Given the description of an element on the screen output the (x, y) to click on. 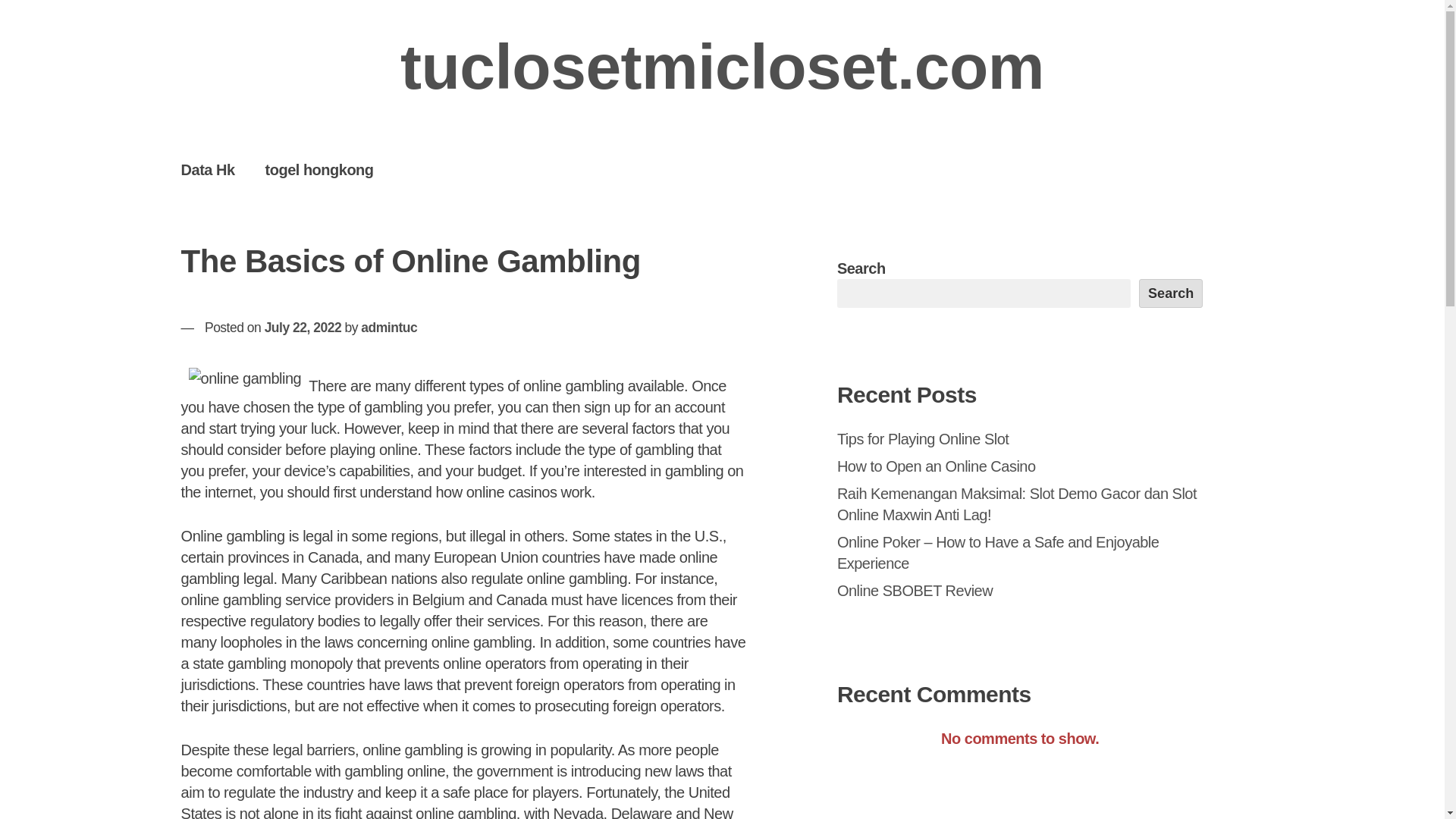
Search (1171, 293)
Online SBOBET Review (914, 590)
July 22, 2022 (303, 327)
admintuc (388, 327)
How to Open an Online Casino (936, 466)
tuclosetmicloset.com (721, 66)
Data Hk (207, 169)
Tips for Playing Online Slot (923, 438)
togel hongkong (319, 169)
